Given the description of an element on the screen output the (x, y) to click on. 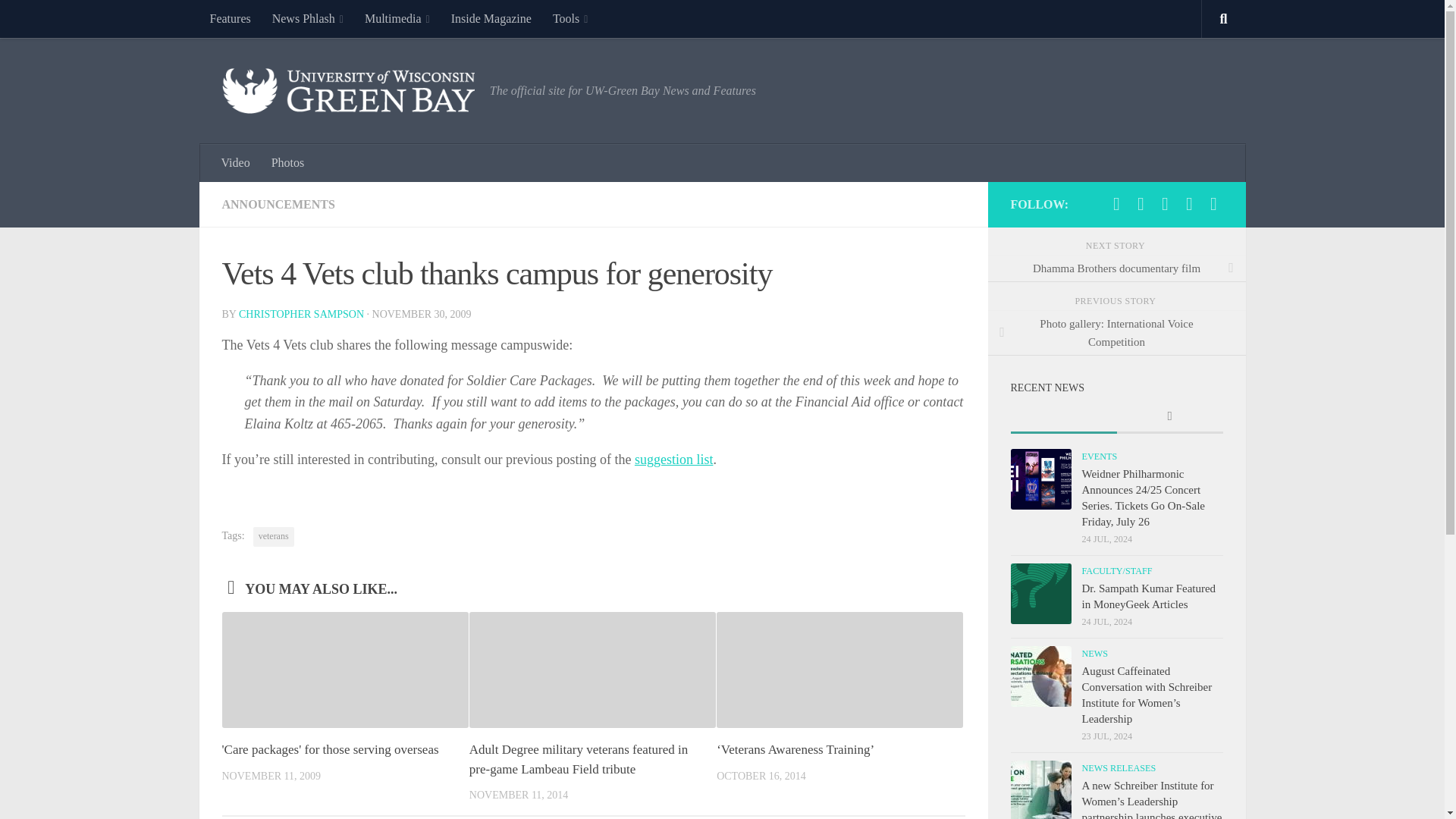
Multimedia (397, 18)
Twitter (1140, 203)
CHRISTOPHER SAMPSON (301, 314)
Email (1213, 203)
Skip to content (59, 20)
ANNOUNCEMENTS (277, 204)
Photos (287, 162)
'Care packages' for those serving overseas (329, 749)
Facebook (1115, 203)
Posts by Christopher Sampson (301, 314)
News Phlash (307, 18)
Features (229, 18)
suggestion list (673, 459)
YouTube (1188, 203)
veterans (273, 537)
